Given the description of an element on the screen output the (x, y) to click on. 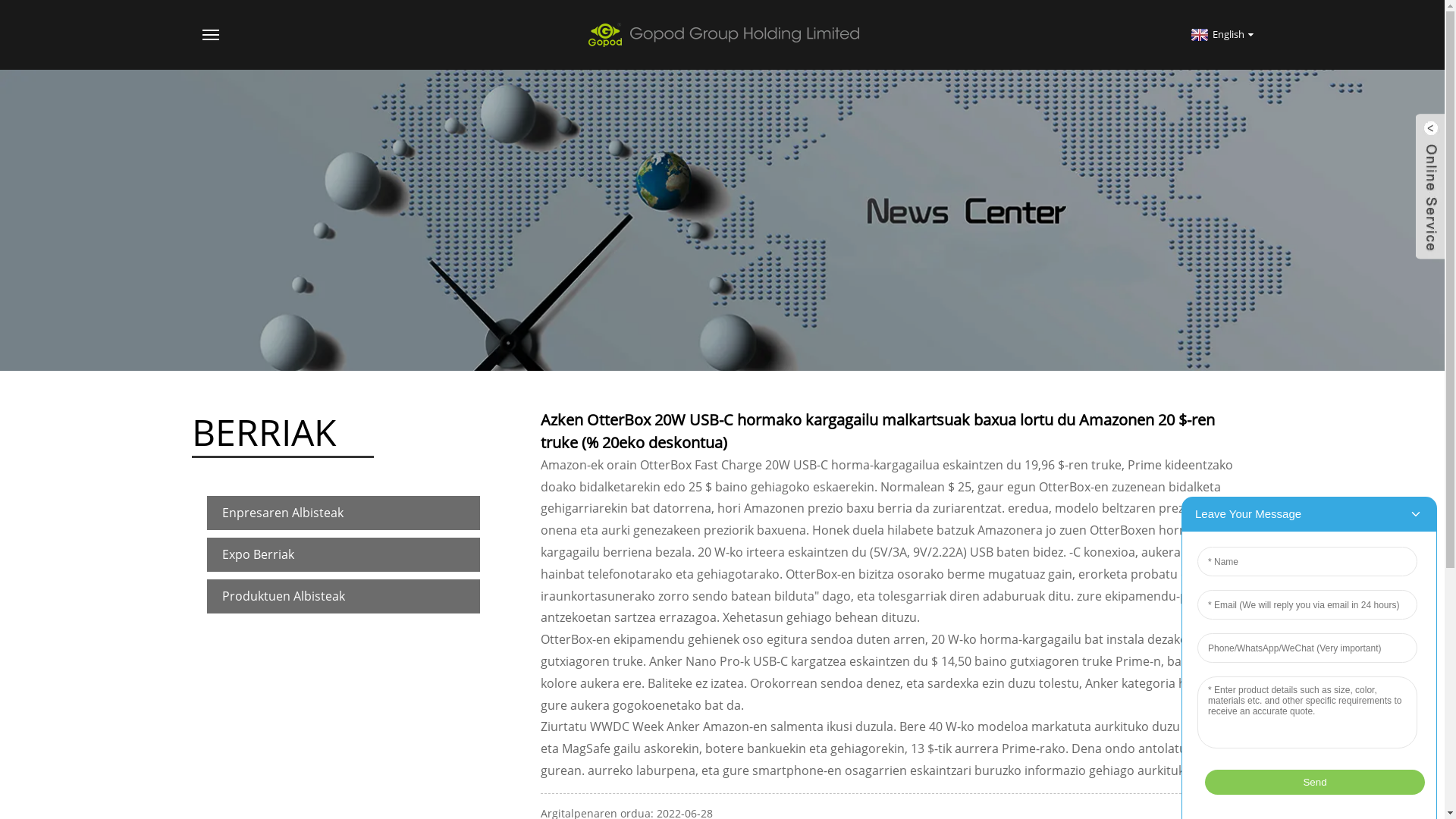
Produktuen Albisteak Element type: text (342, 596)
English Element type: text (1220, 33)
Expo Berriak Element type: text (342, 554)
Enpresaren Albisteak Element type: text (342, 512)
